Given the description of an element on the screen output the (x, y) to click on. 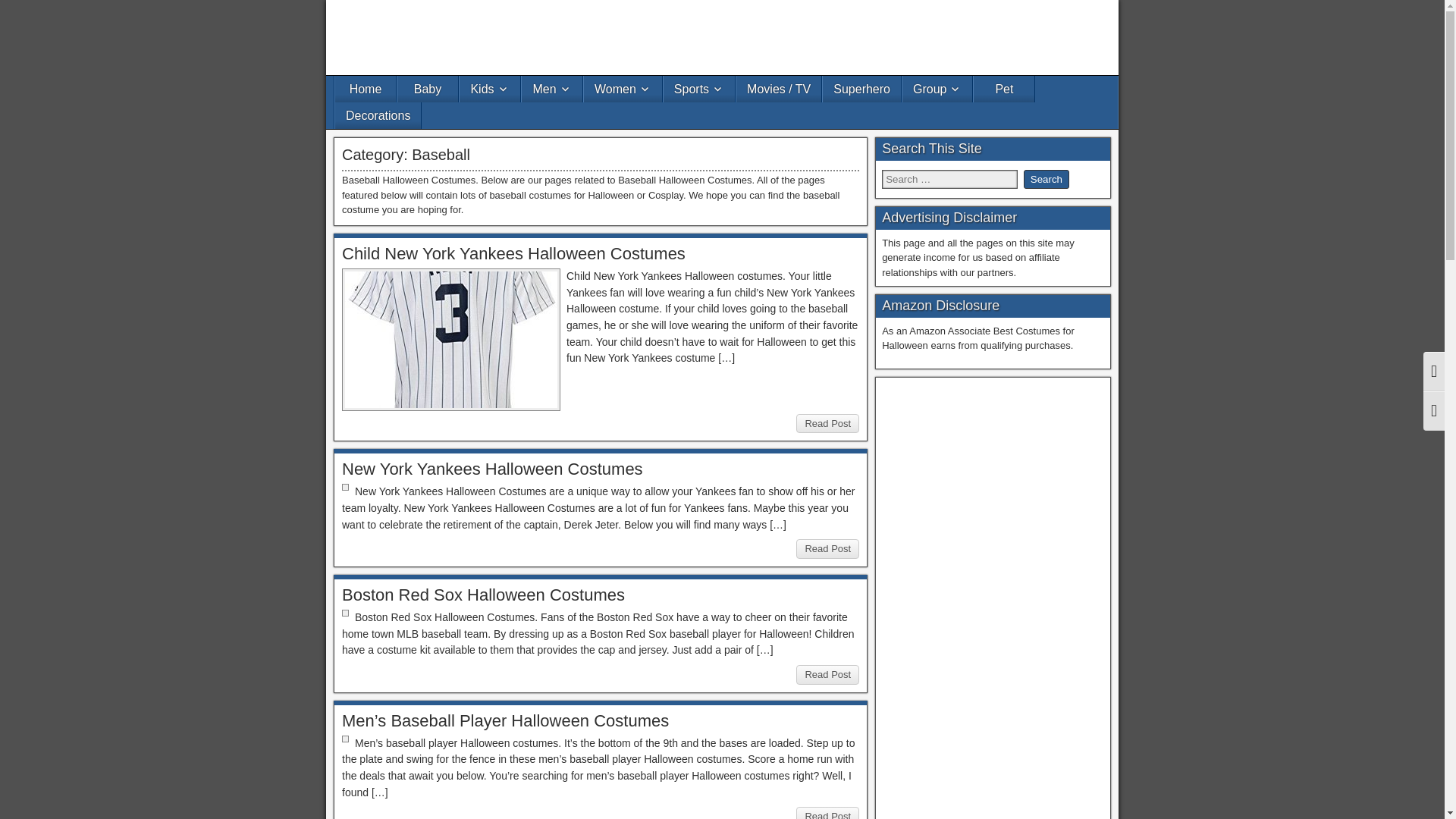
Read Post (827, 548)
Men (551, 89)
Search (1045, 179)
Search (1045, 179)
Baby (427, 89)
Decorations (377, 115)
Superhero (861, 89)
Halloween Costumes for Babies (427, 89)
Read Post (827, 424)
Home (365, 89)
Read Post (827, 674)
New York Yankees Halloween Costumes (492, 468)
Kids (489, 89)
Group (937, 89)
Group Halloween Costumes (937, 89)
